Given the description of an element on the screen output the (x, y) to click on. 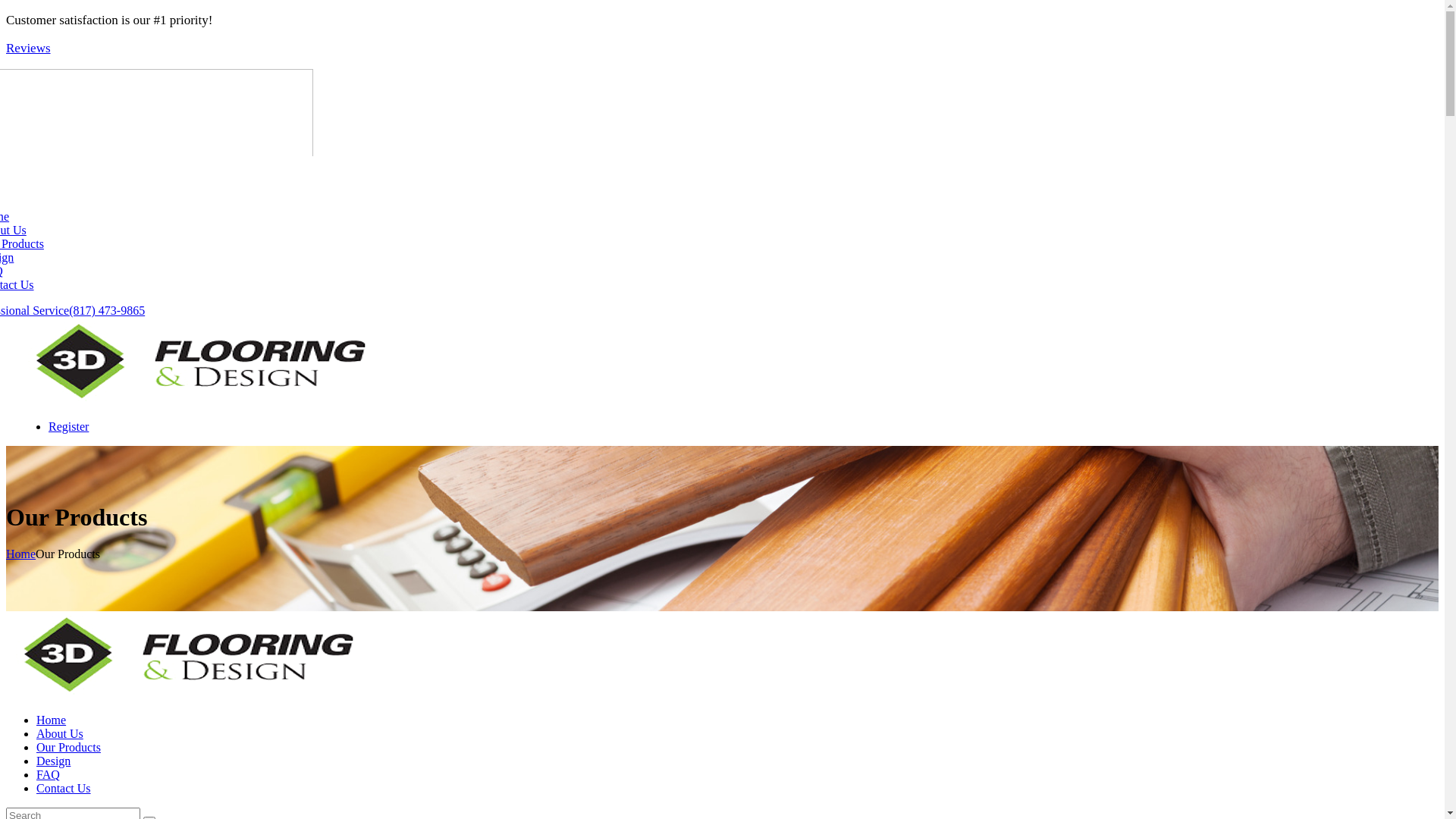
Home Element type: text (20, 553)
Contact Us Element type: text (63, 787)
FAQ Element type: text (47, 774)
Reviews Element type: text (28, 47)
About Us Element type: text (59, 733)
Home Element type: text (50, 719)
Design Element type: text (53, 760)
Register Element type: text (68, 426)
Our Products Element type: text (68, 746)
